Given the description of an element on the screen output the (x, y) to click on. 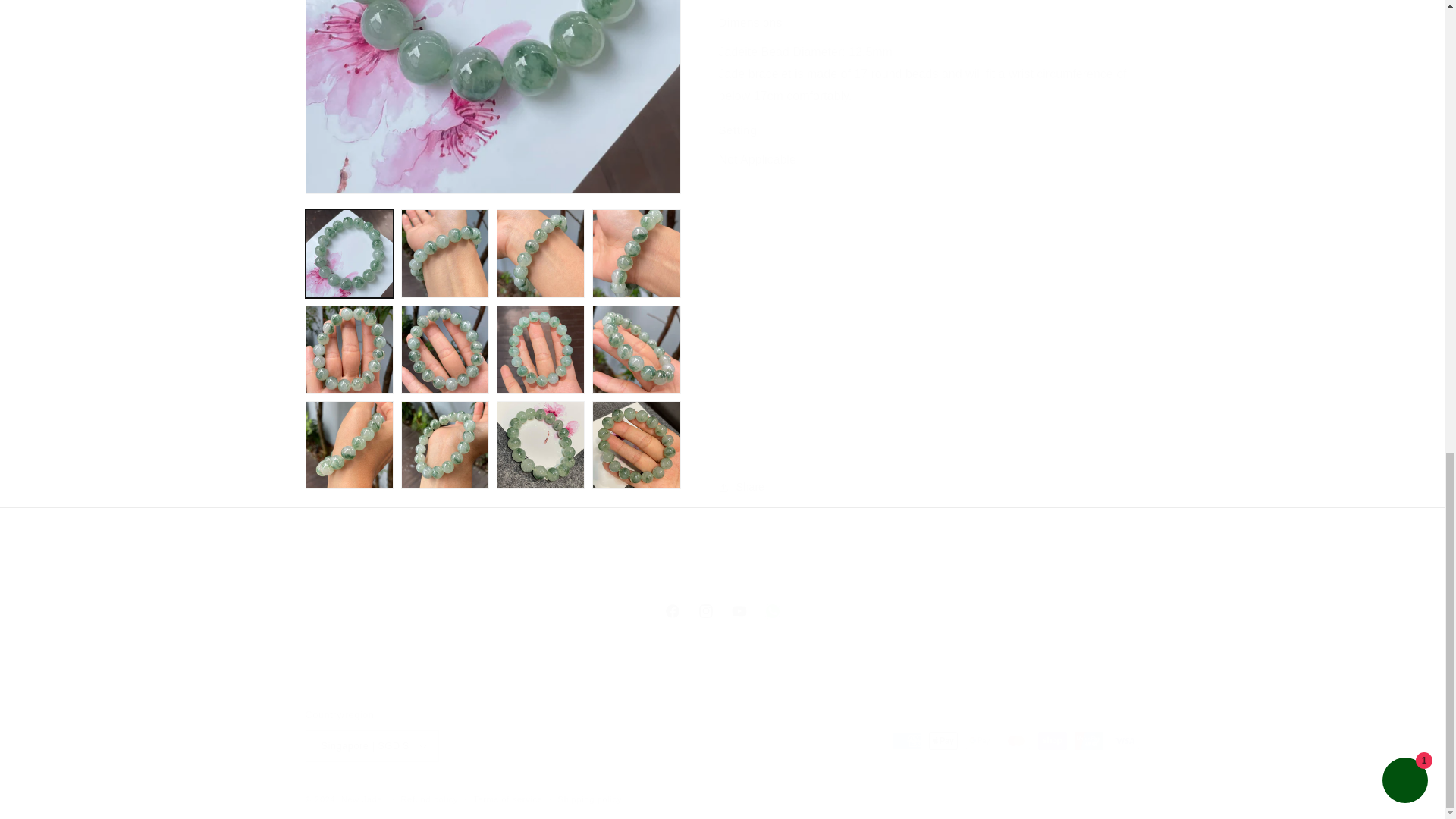
YouTube video player (721, 611)
